Given the description of an element on the screen output the (x, y) to click on. 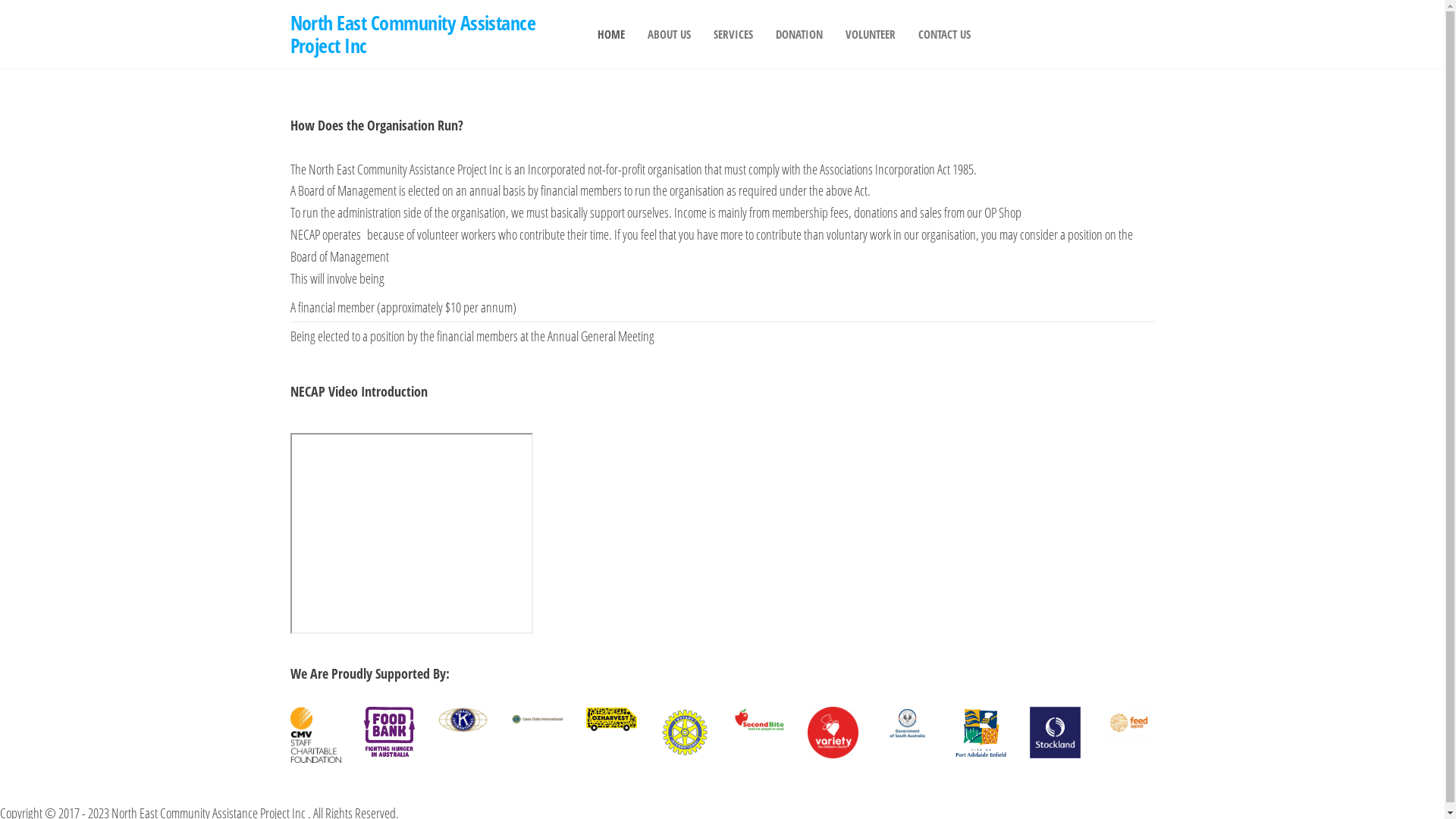
SERVICES Element type: text (733, 34)
VOLUNTEER Element type: text (870, 34)
DONATION Element type: text (799, 34)
HOME Element type: text (610, 34)
ABOUT US Element type: text (668, 34)
CONTACT US Element type: text (944, 34)
North East Community Assistance Project Inc Element type: text (412, 34)
